Given the description of an element on the screen output the (x, y) to click on. 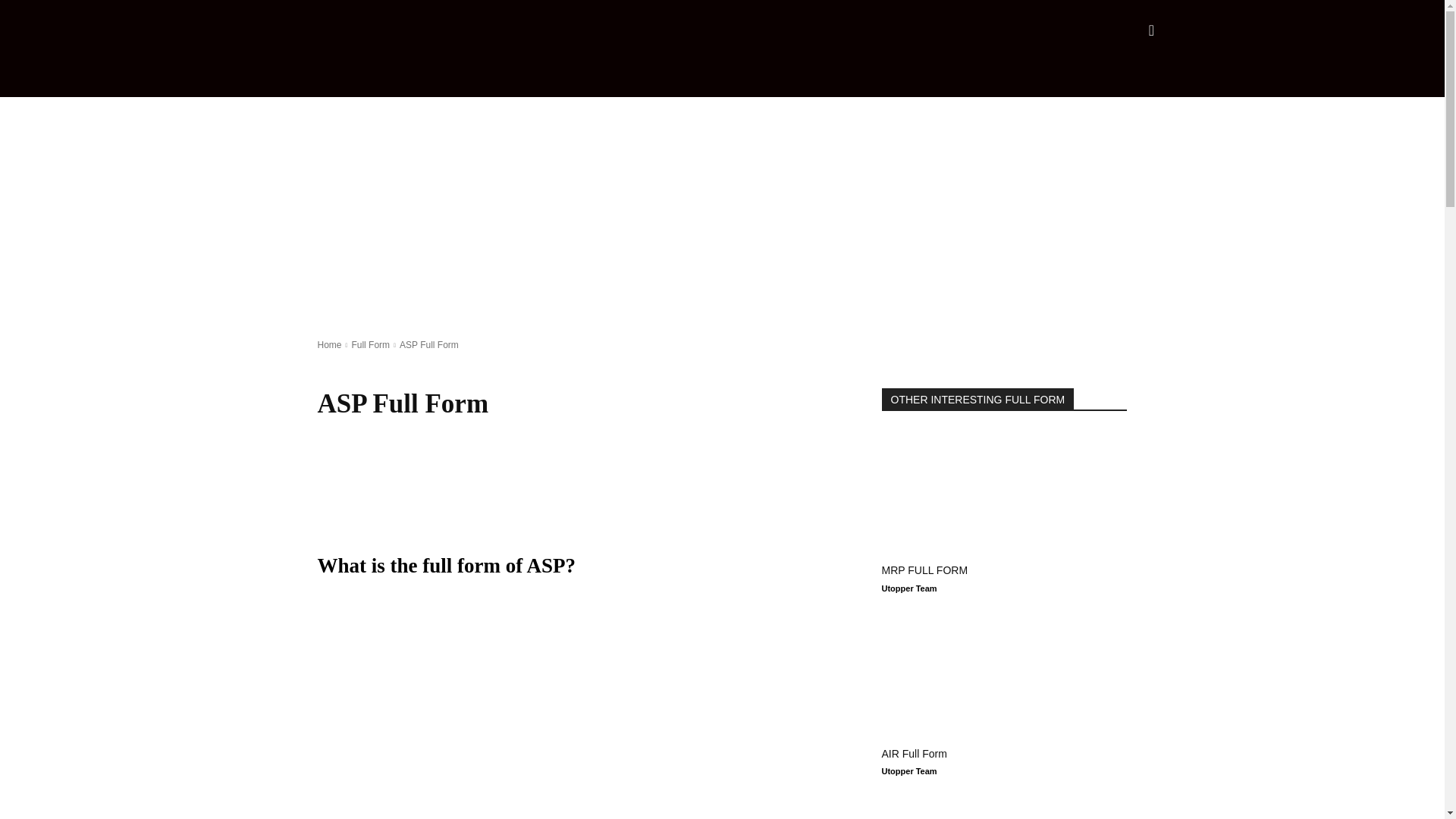
View all posts in Full Form (370, 344)
Home (328, 344)
Full Form (370, 344)
